Given the description of an element on the screen output the (x, y) to click on. 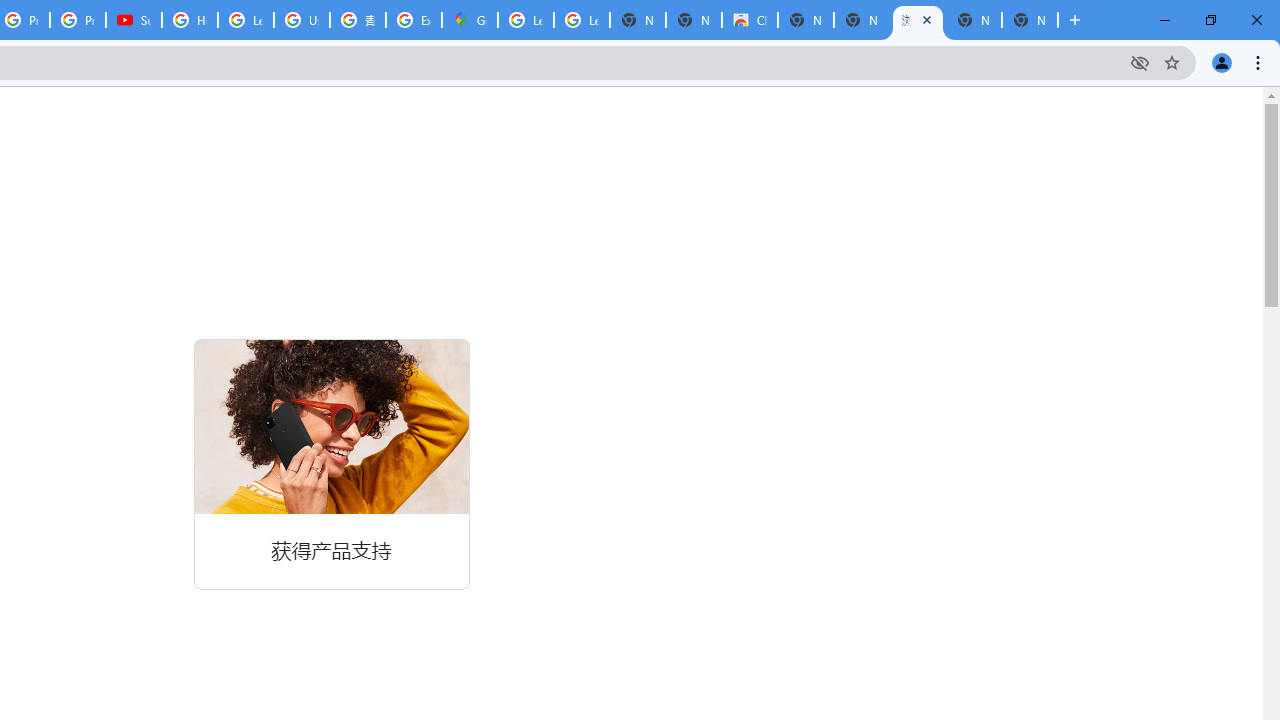
Explore new street-level details - Google Maps Help (413, 20)
